Given the description of an element on the screen output the (x, y) to click on. 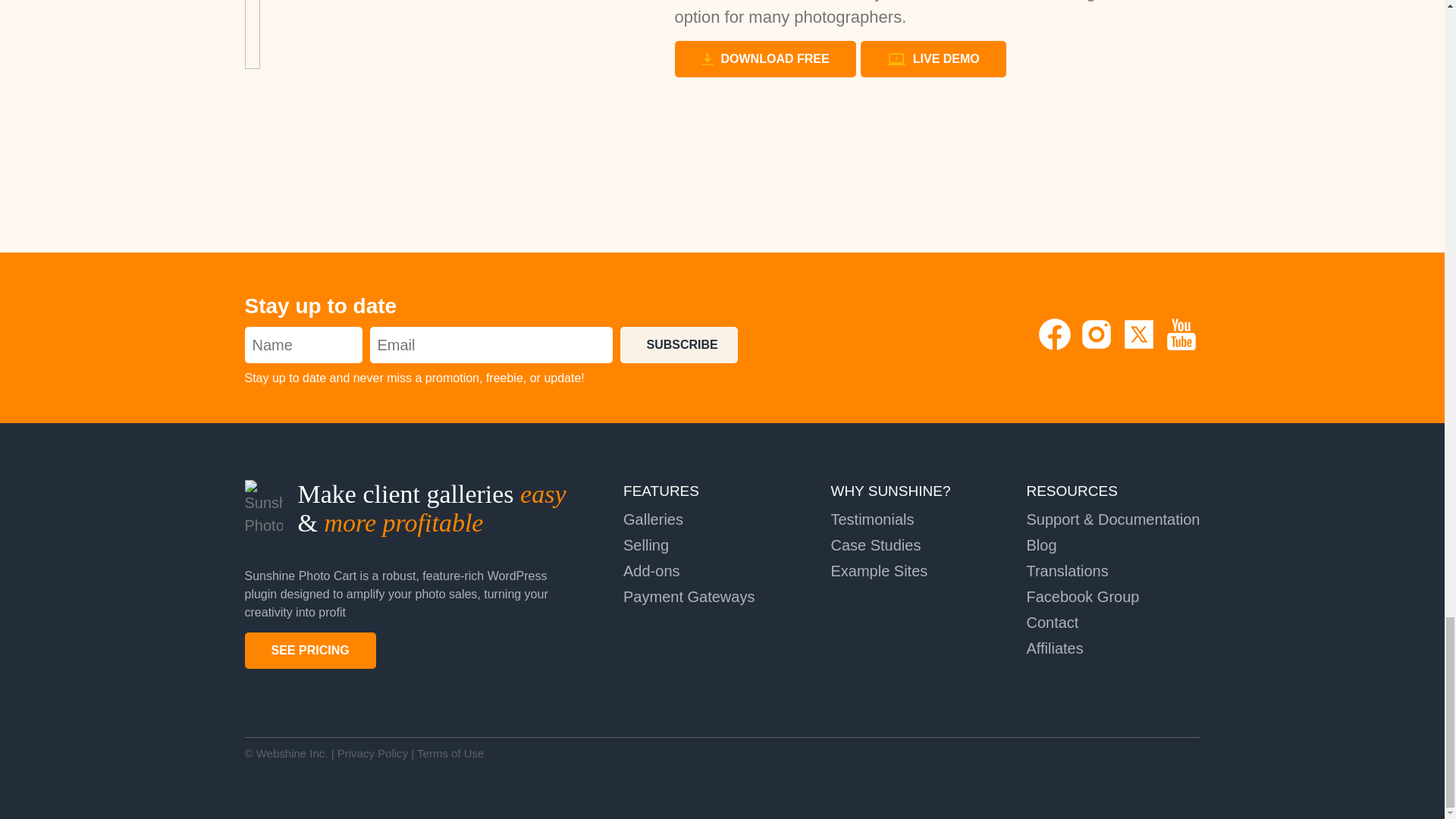
SEE PRICING (309, 650)
Facebook (1056, 347)
LIVE DEMO (933, 58)
Instagram (1098, 347)
Selling (645, 545)
SUBSCRIBE (679, 344)
Twitter (1140, 347)
Galleries (652, 519)
DOWNLOAD FREE (765, 58)
FEATURES (660, 490)
YouTube (1180, 347)
